Given the description of an element on the screen output the (x, y) to click on. 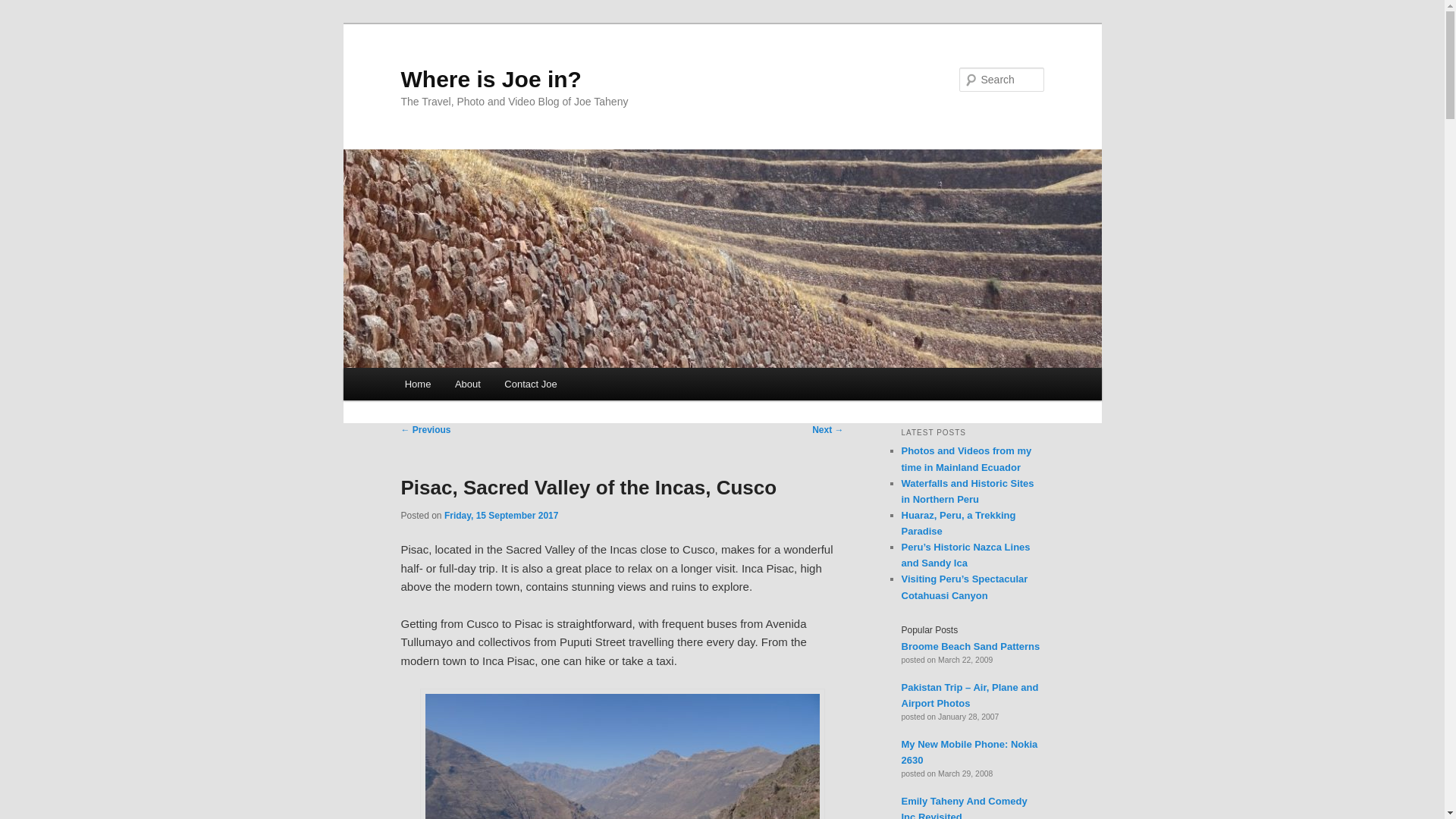
Friday, 15 September 2017 (501, 515)
Search (24, 8)
Contact Joe (531, 383)
17:37 (501, 515)
Home (417, 383)
About (467, 383)
Where is Joe in? (490, 78)
